Given the description of an element on the screen output the (x, y) to click on. 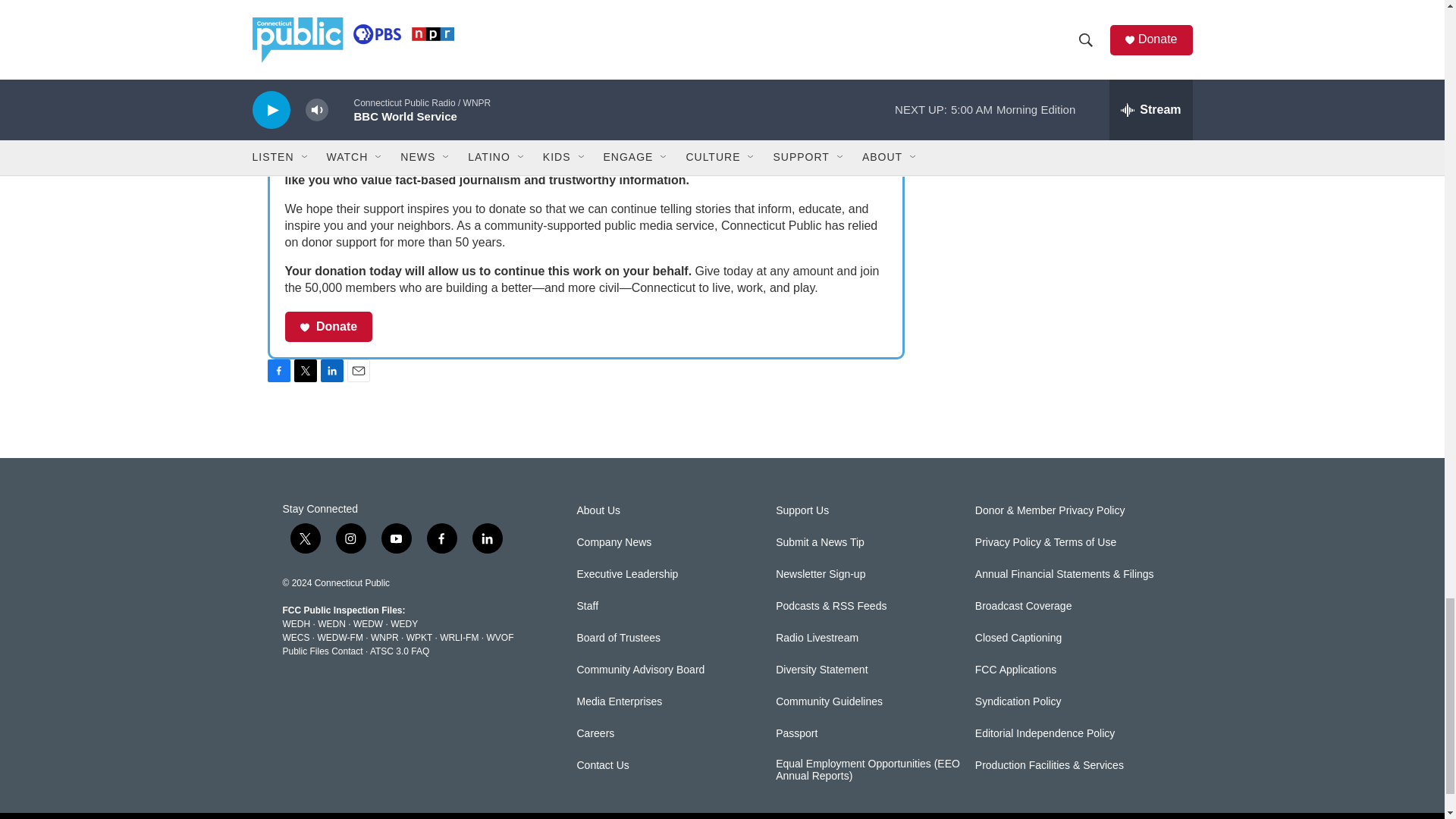
3rd party ad content (1062, 49)
